Given the description of an element on the screen output the (x, y) to click on. 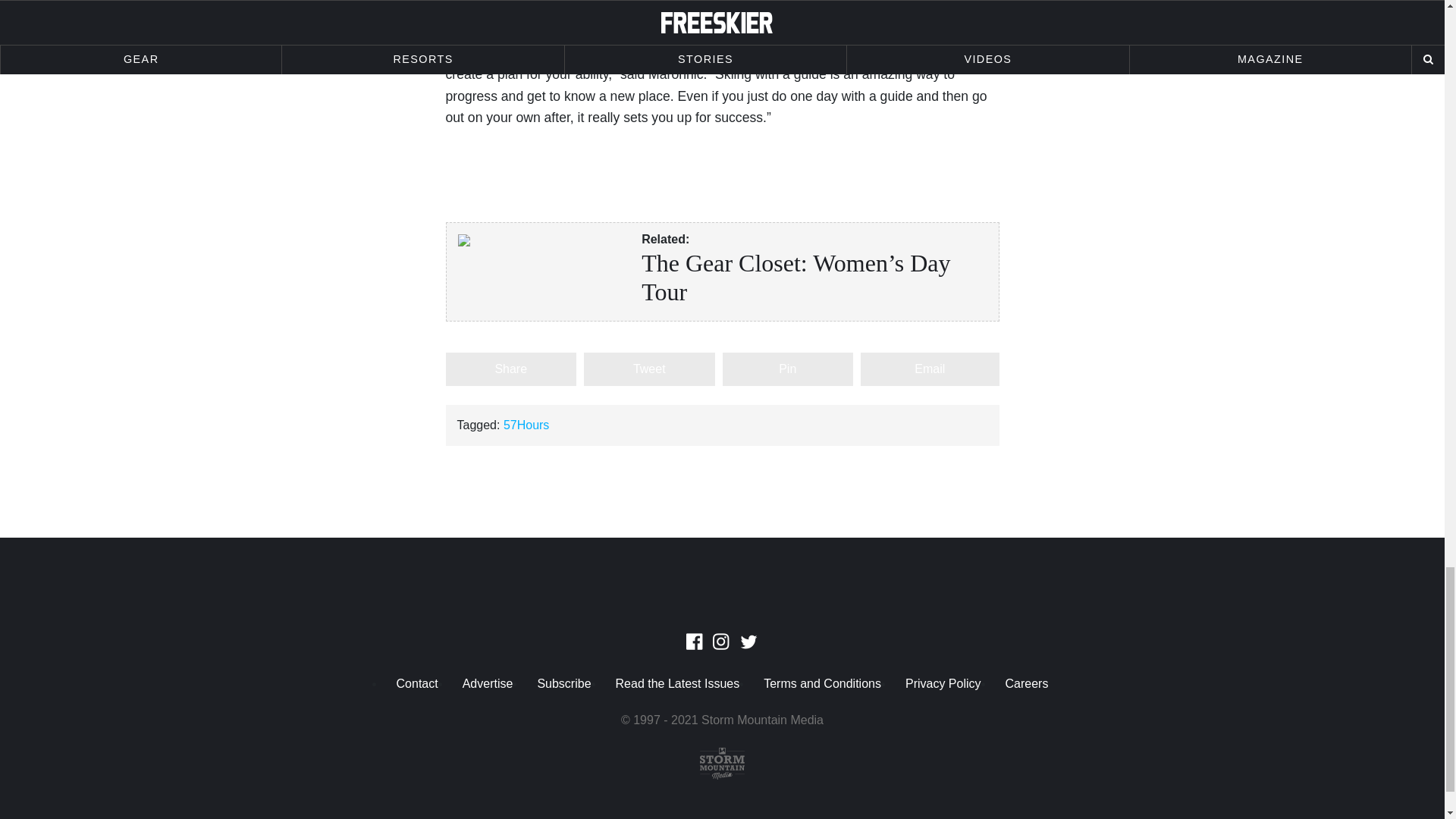
Terms and Conditions (822, 684)
Read the Latest Issues (678, 684)
Advertise (487, 684)
57Hours (525, 424)
Terms and Conditions (822, 684)
Privacy Policy (942, 684)
Privacy Policy (942, 684)
Careers (1026, 684)
Contact (416, 684)
Subscribe (563, 684)
